Given the description of an element on the screen output the (x, y) to click on. 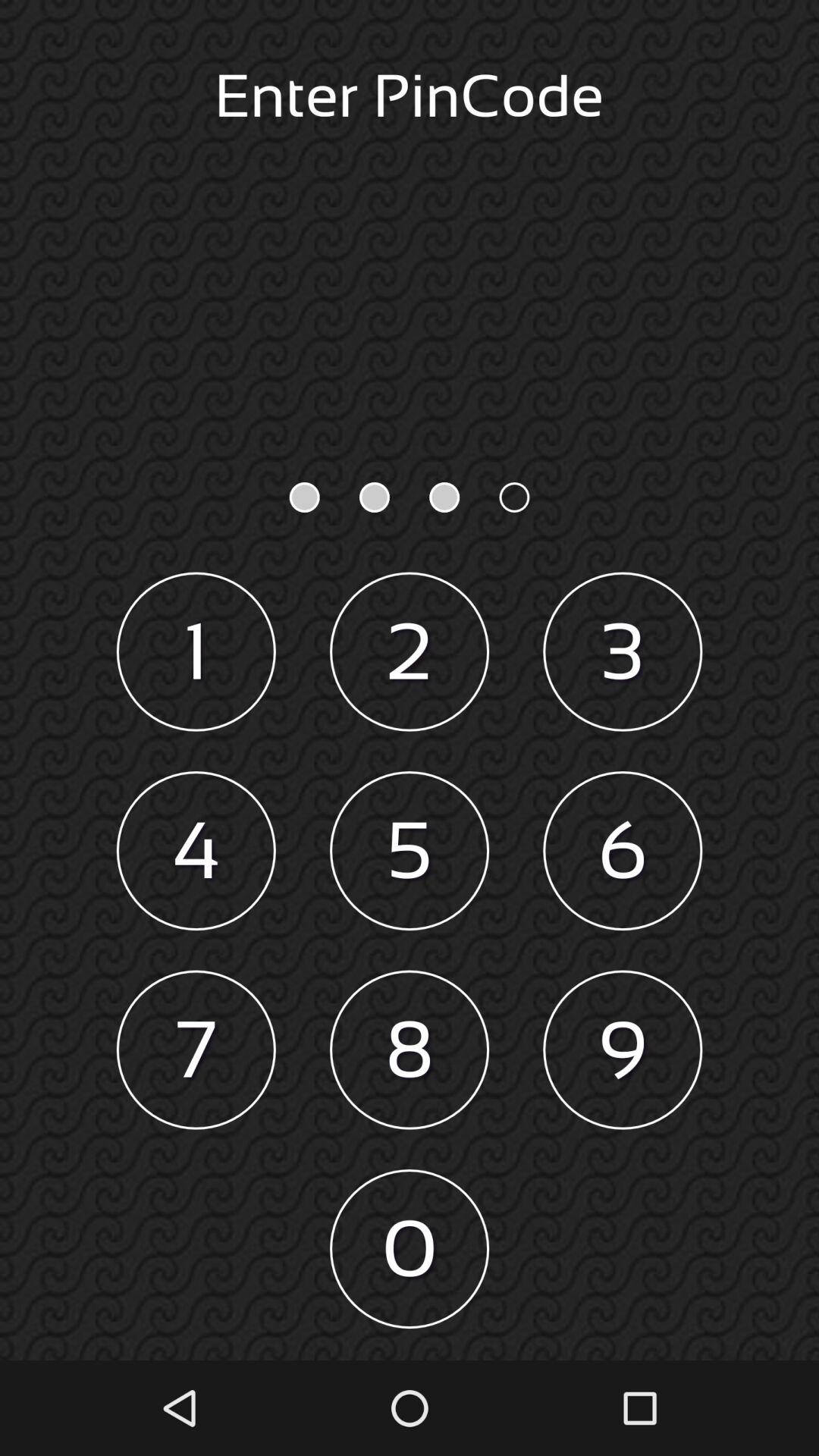
turn on 0 (409, 1248)
